Given the description of an element on the screen output the (x, y) to click on. 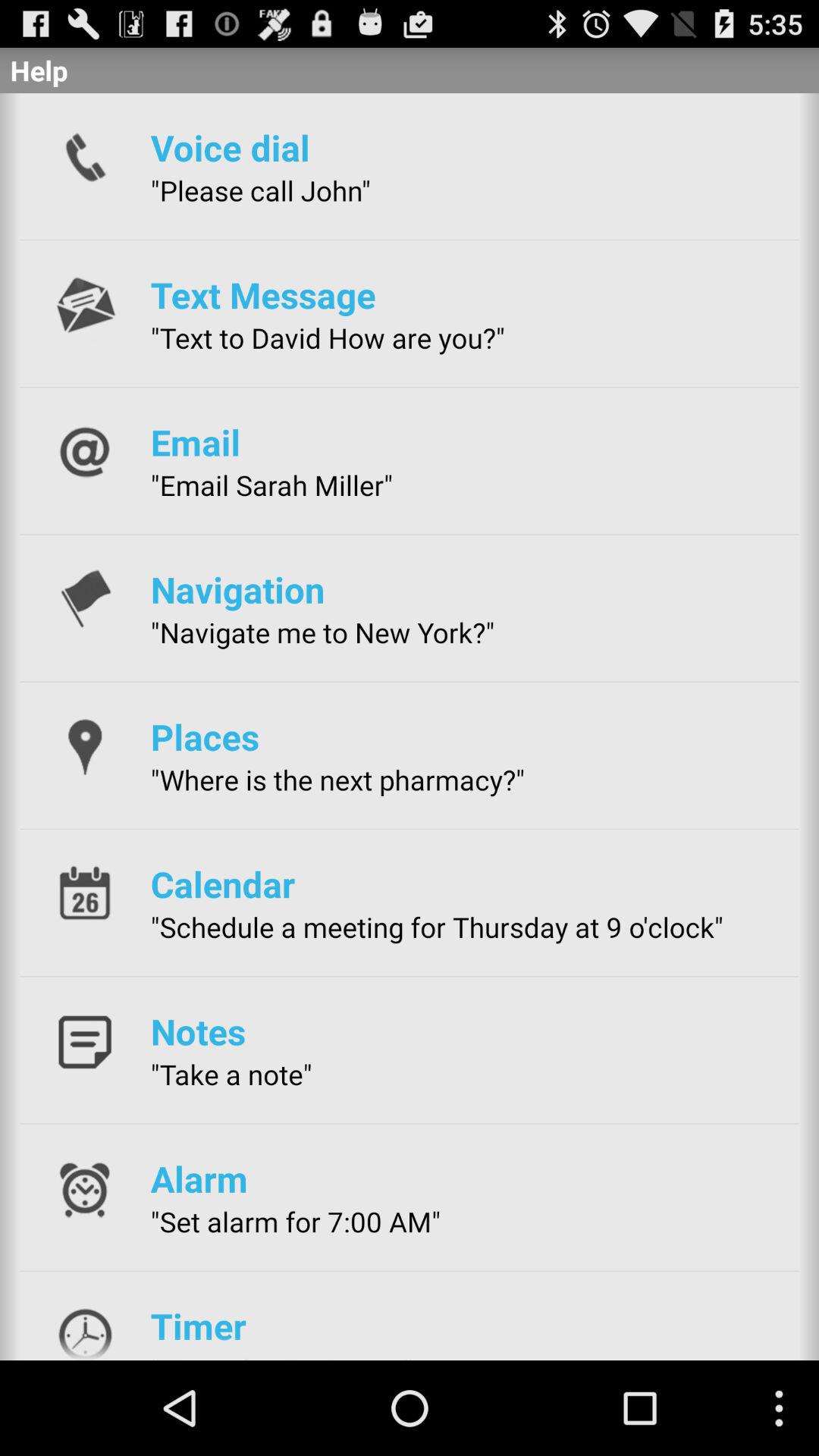
open app below "email sarah miller" item (237, 589)
